Given the description of an element on the screen output the (x, y) to click on. 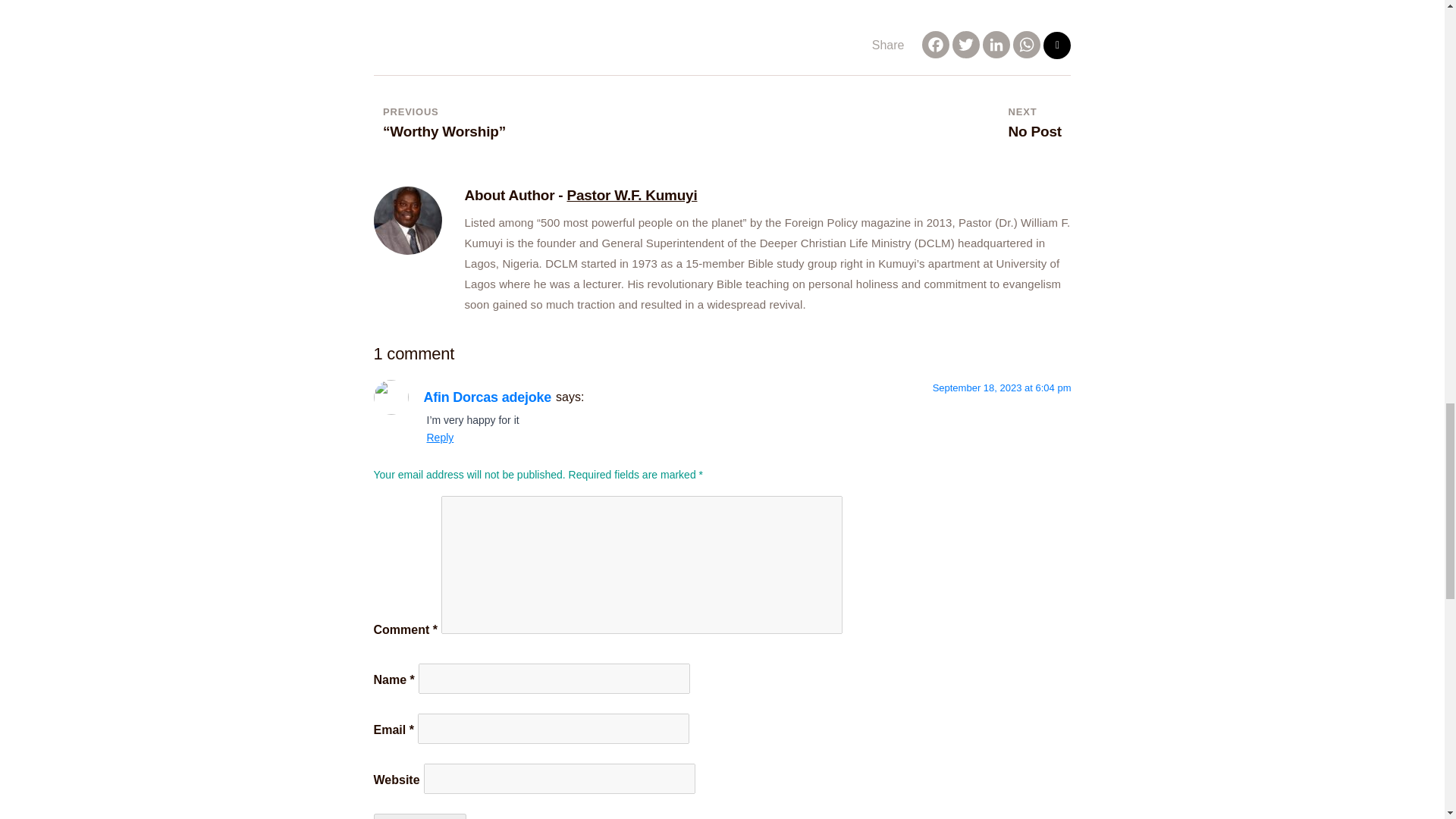
WhatsApp (1027, 45)
Print (1056, 44)
Reply (439, 437)
Print (1056, 44)
LinkedIn (996, 45)
Post Comment (1035, 123)
LinkedIn (418, 816)
WhatsApp (996, 45)
Twitter (1027, 45)
September 18, 2023 at 6:04 pm (965, 45)
Post Comment (1002, 388)
Facebook (418, 816)
Afin Dorcas adejoke (935, 45)
Twitter (487, 396)
